Given the description of an element on the screen output the (x, y) to click on. 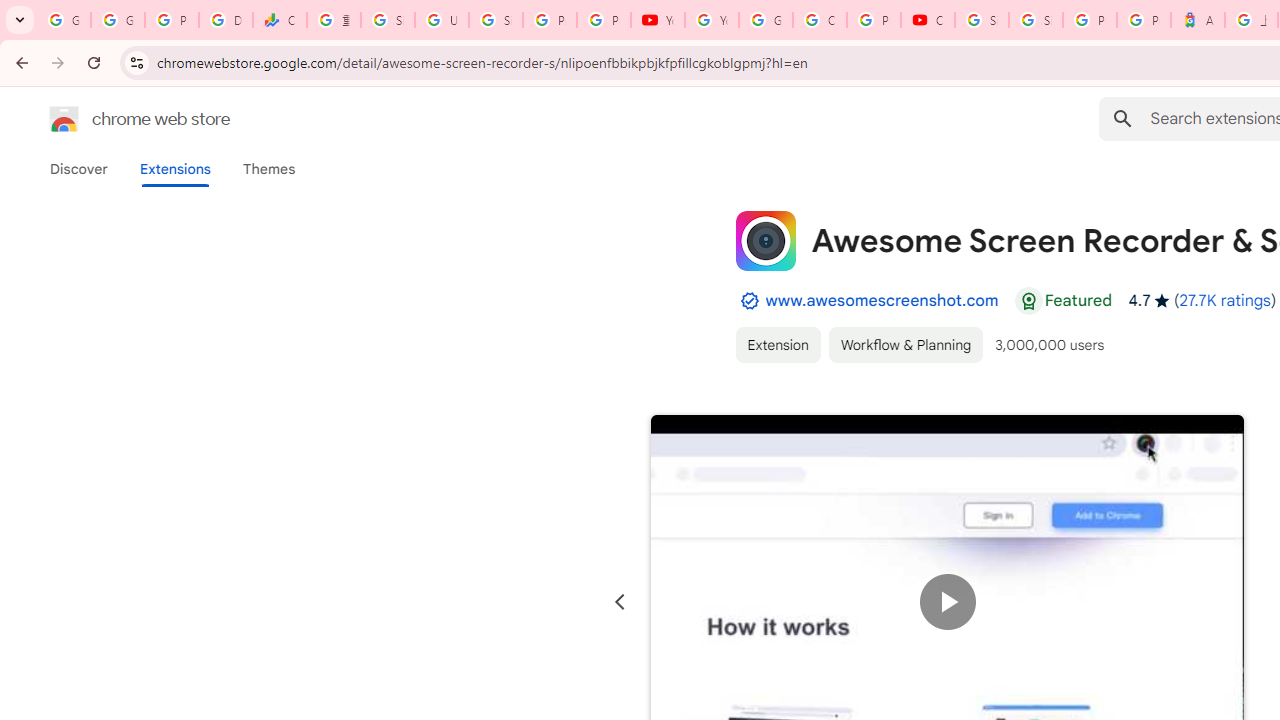
Google Account Help (765, 20)
Item logo image for Awesome Screen Recorder & Screenshot (765, 240)
Themes (269, 169)
Discover (79, 169)
Sign in - Google Accounts (495, 20)
Sign in - Google Accounts (387, 20)
Extension (777, 344)
Sign in - Google Accounts (981, 20)
Workflow & Planning (906, 344)
